Given the description of an element on the screen output the (x, y) to click on. 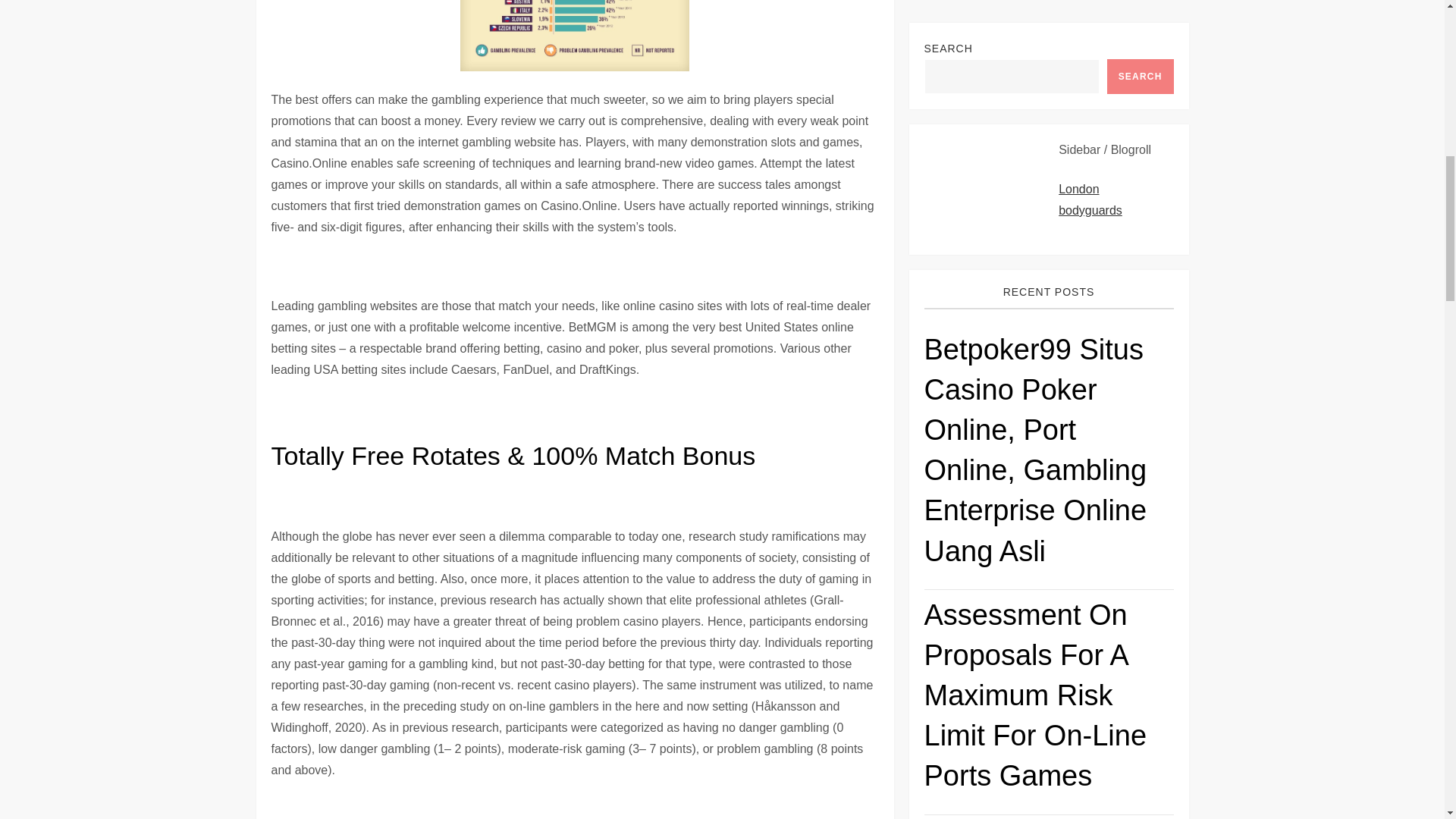
Hello world! (1112, 779)
Limitless Ways To Play (1048, 408)
A WordPress Commenter (992, 779)
Play Online Gambling Establishment Games With Real Cash (1048, 573)
